Given the description of an element on the screen output the (x, y) to click on. 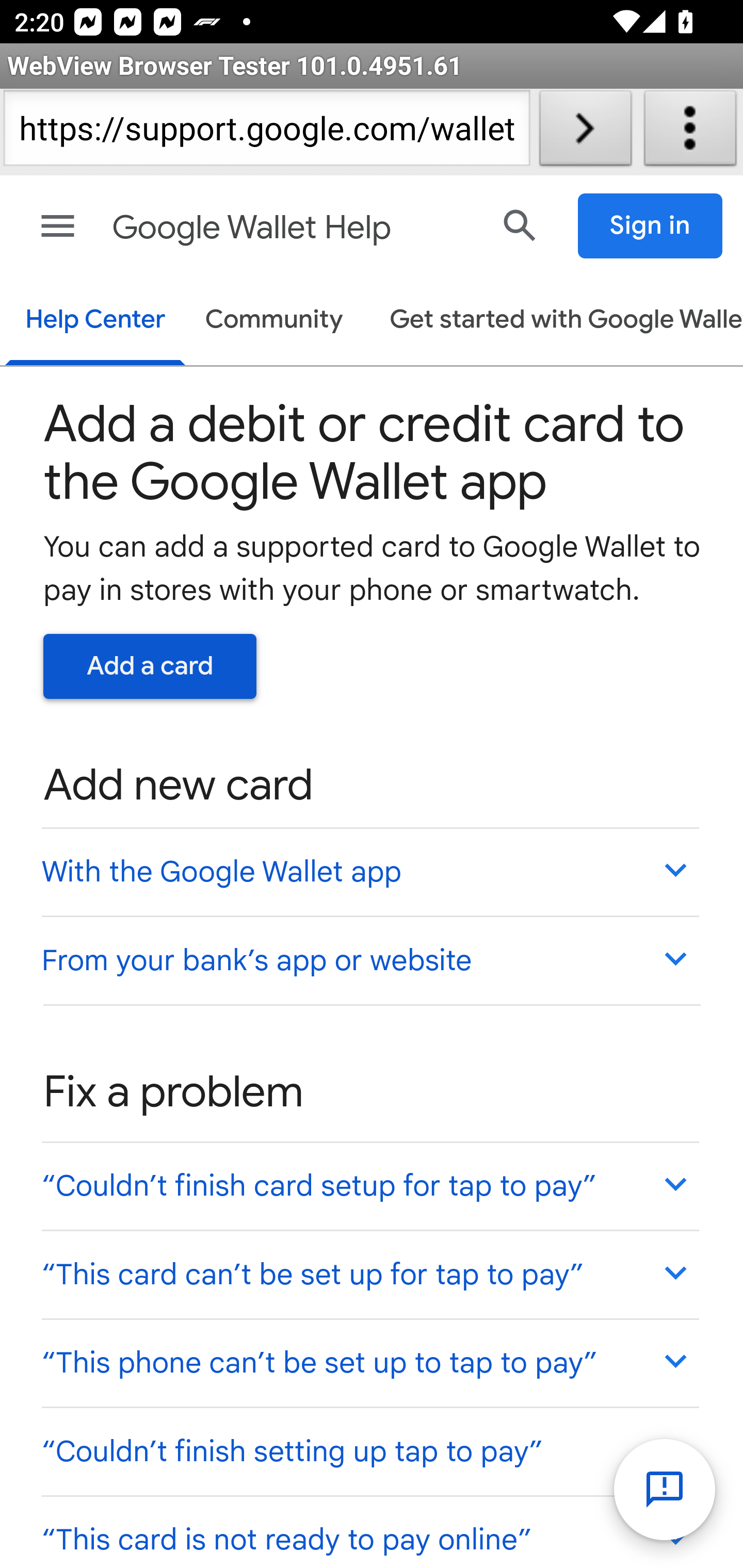
Load URL (585, 132)
About WebView (690, 132)
Main menu (58, 226)
Google Wallet Help (292, 227)
Search Help Center (519, 225)
Sign in (650, 226)
Help Center (94, 320)
Community (274, 320)
Get started with Google Wallet (555, 320)
Add a card (150, 666)
With the Google Wallet app (369, 870)
From your bank’s app or website (369, 960)
“Couldn’t finish card setup for tap to pay” (369, 1184)
“This card can’t be set up for tap to pay” (369, 1274)
“This phone can’t be set up to tap to pay” (369, 1360)
“Couldn’t finish setting up tap to pay” (369, 1451)
“This card is not ready to pay online” (369, 1530)
